Given the description of an element on the screen output the (x, y) to click on. 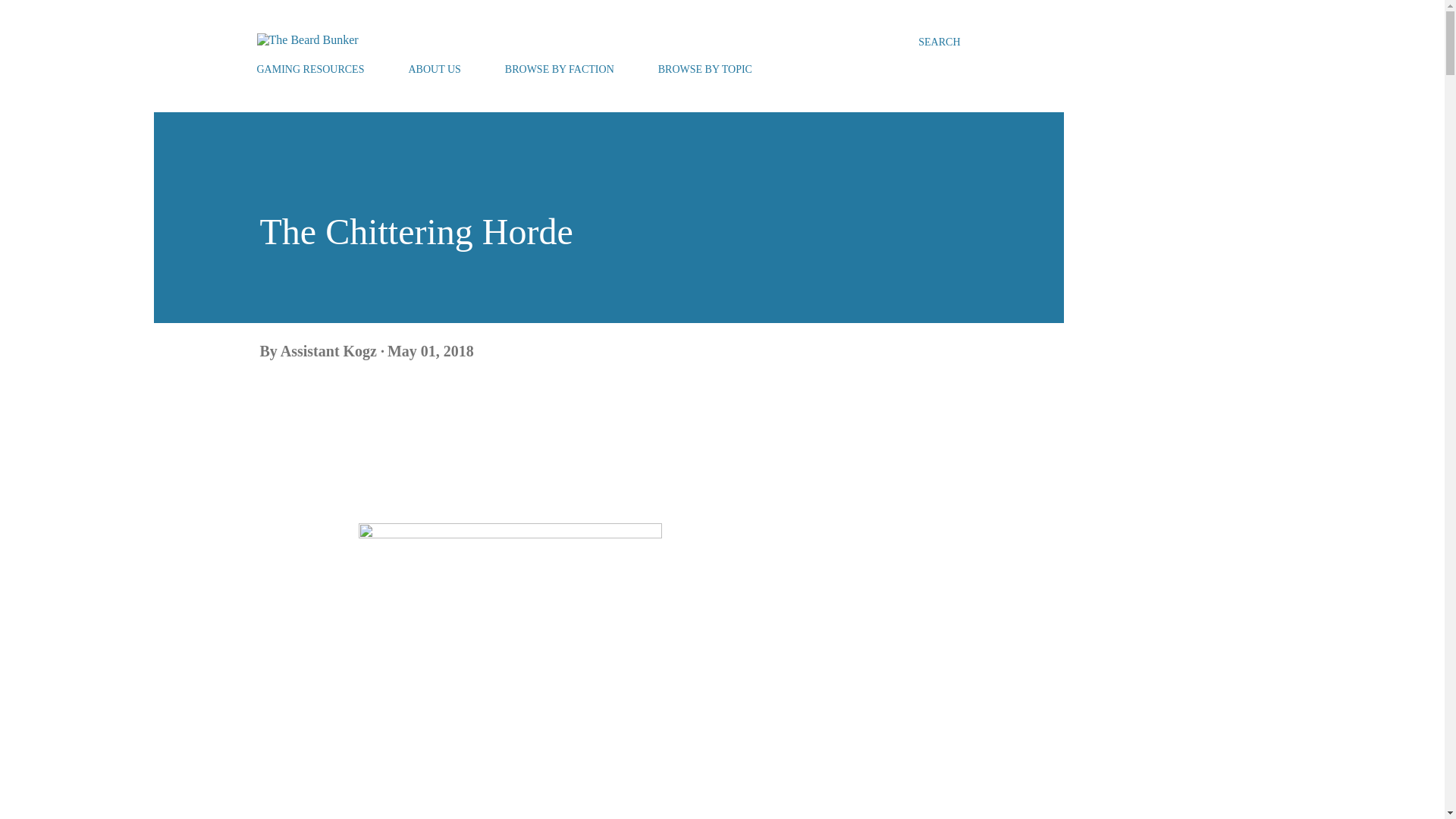
May 01, 2018 (430, 351)
SEARCH (938, 42)
GAMING RESOURCES (314, 69)
BROWSE BY TOPIC (705, 69)
ABOUT US (433, 69)
permanent link (430, 351)
author profile (330, 351)
BROWSE BY FACTION (559, 69)
Assistant Kogz (330, 351)
